Given the description of an element on the screen output the (x, y) to click on. 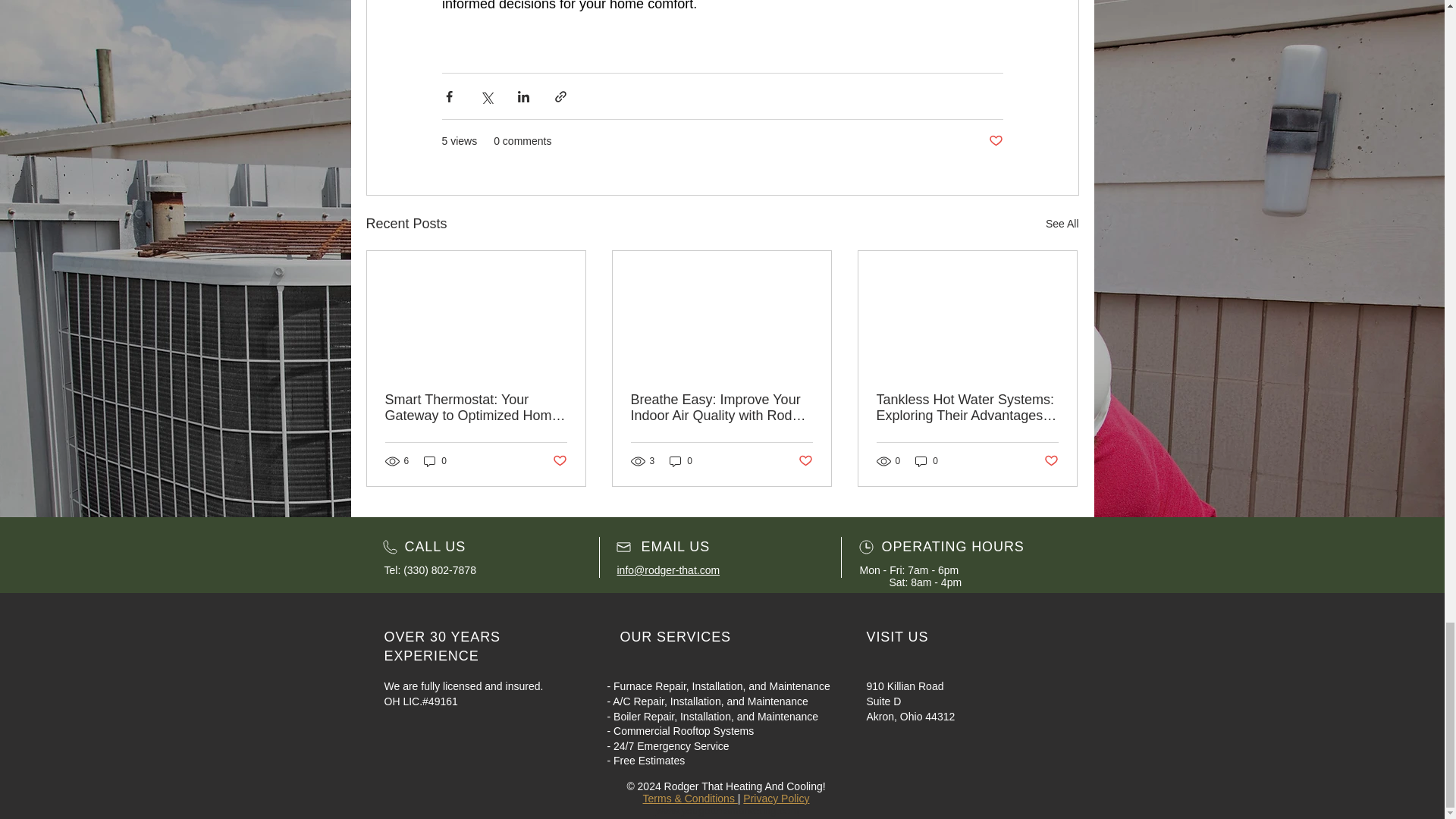
Post not marked as liked (1050, 461)
0 (435, 460)
Privacy Policy (775, 798)
Post not marked as liked (558, 461)
0 (681, 460)
See All (1061, 223)
Post not marked as liked (995, 141)
0 (926, 460)
Post not marked as liked (804, 461)
www.yougotthismarketing.com (727, 810)
